Given the description of an element on the screen output the (x, y) to click on. 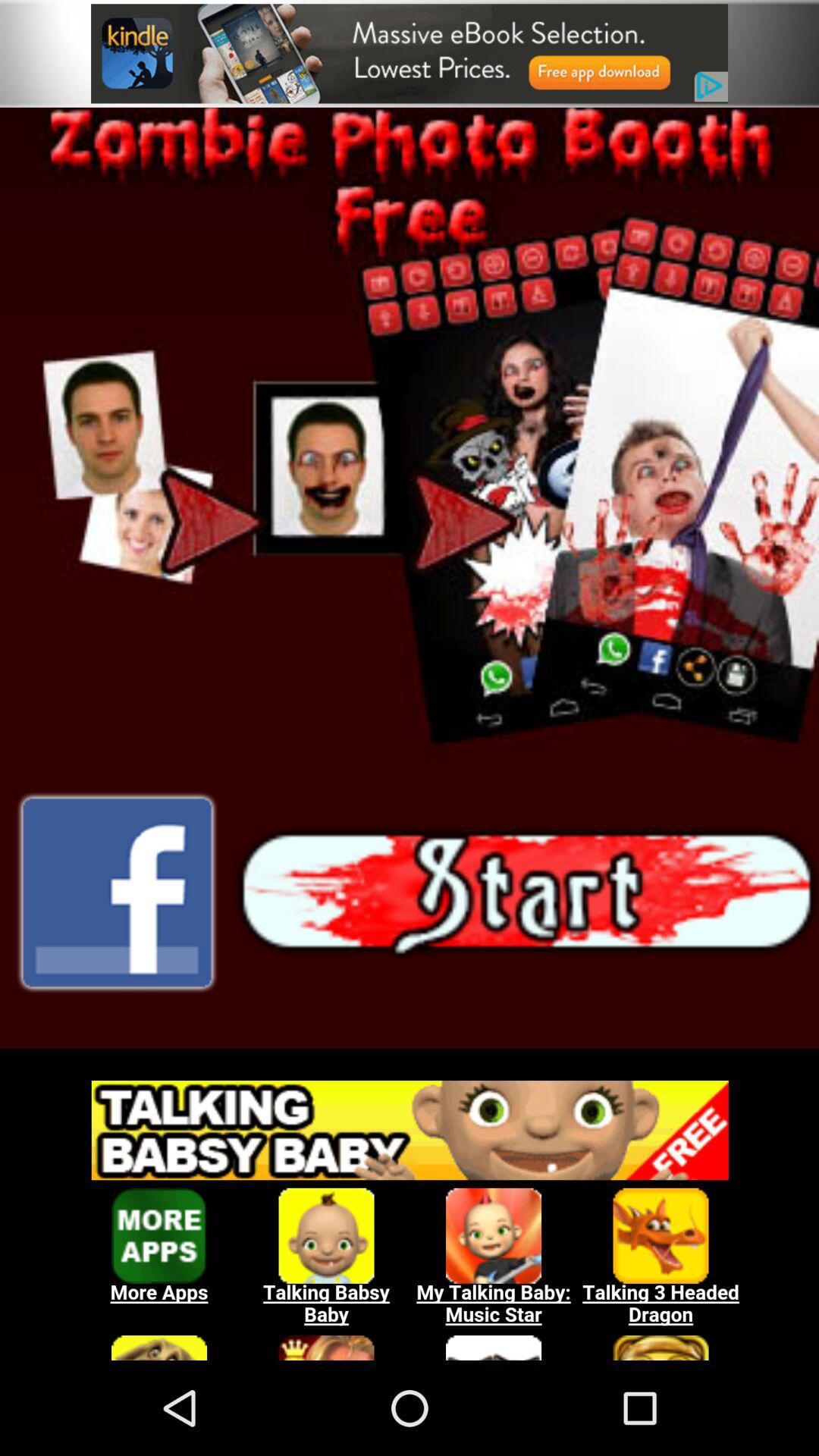
sponsor advertisement for talking babsy baby and other related games (409, 1212)
